Given the description of an element on the screen output the (x, y) to click on. 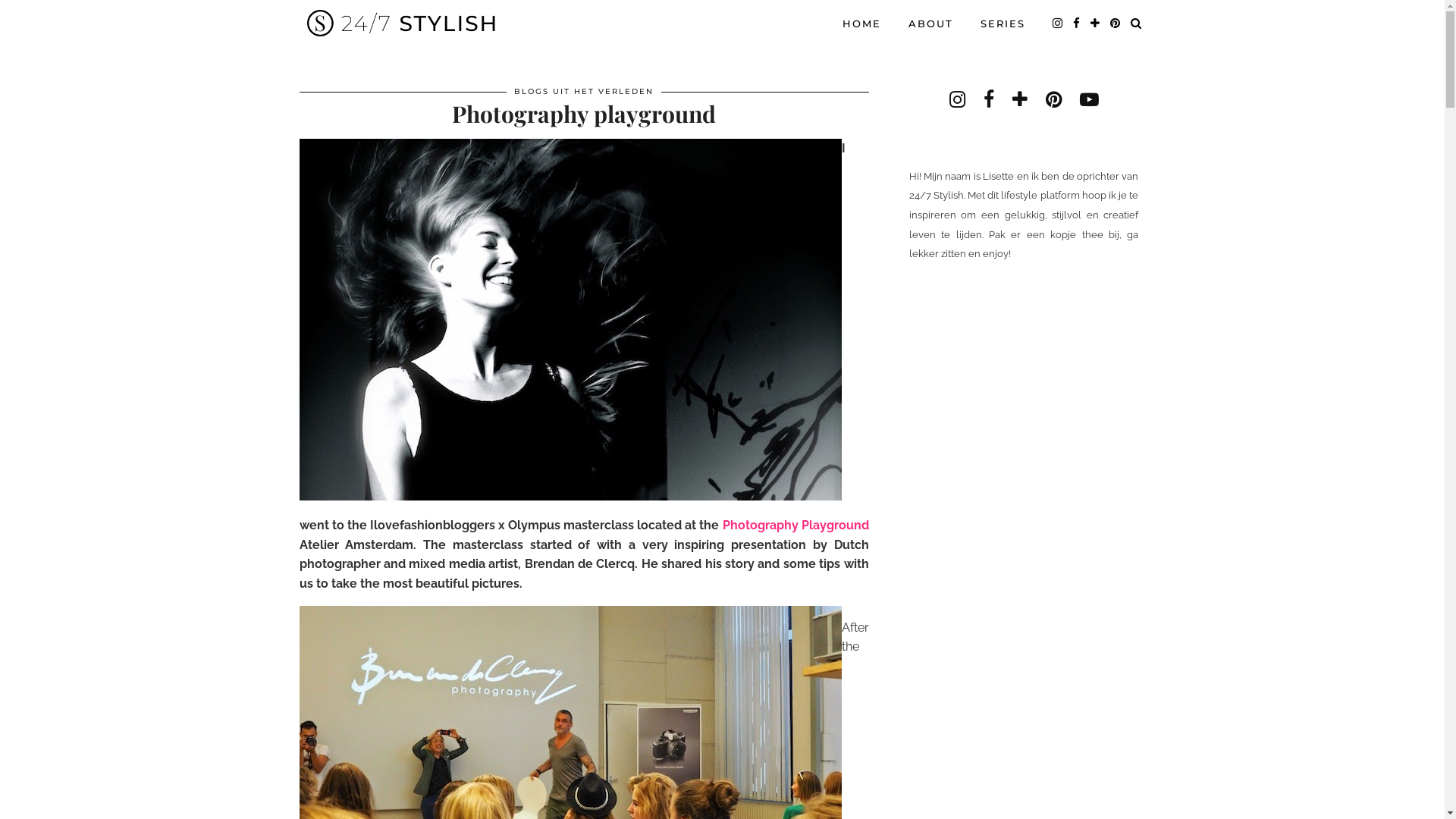
facebook Element type: hover (1076, 23)
Photography Playground Element type: text (795, 524)
facebook Element type: hover (988, 98)
instagram Element type: hover (957, 98)
pinterest Element type: hover (1053, 98)
ABOUT Element type: text (930, 23)
BLOGS UIT HET VERLEDEN Element type: text (583, 91)
HOME Element type: text (861, 23)
pinterest Element type: hover (1115, 23)
instagram Element type: hover (1057, 23)
youtube Element type: hover (1088, 98)
24/7 Stylish Element type: hover (401, 22)
bloglovin Element type: hover (1019, 98)
Search Element type: hover (1135, 23)
bloglovin Element type: hover (1095, 23)
SERIES Element type: text (1002, 23)
